Given the description of an element on the screen output the (x, y) to click on. 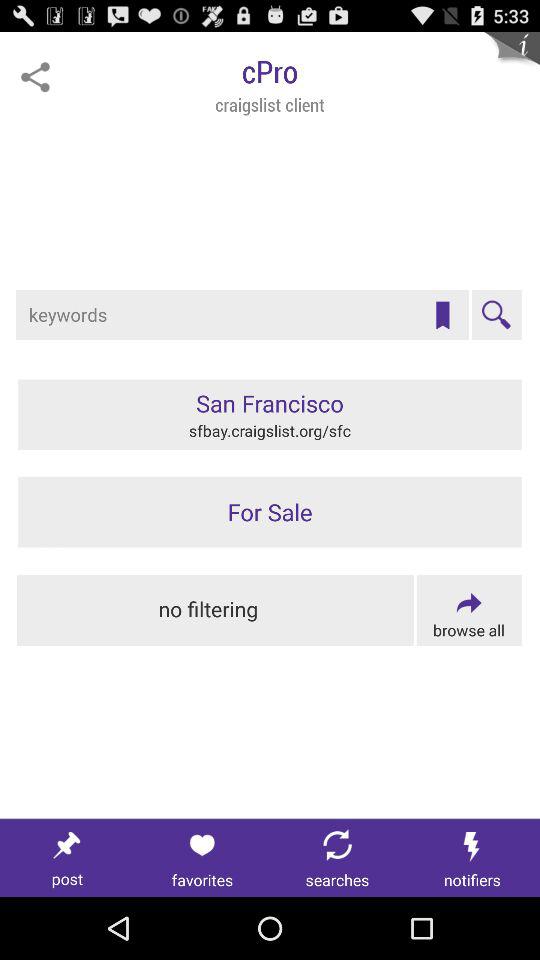
button to go to post part (67, 858)
